Given the description of an element on the screen output the (x, y) to click on. 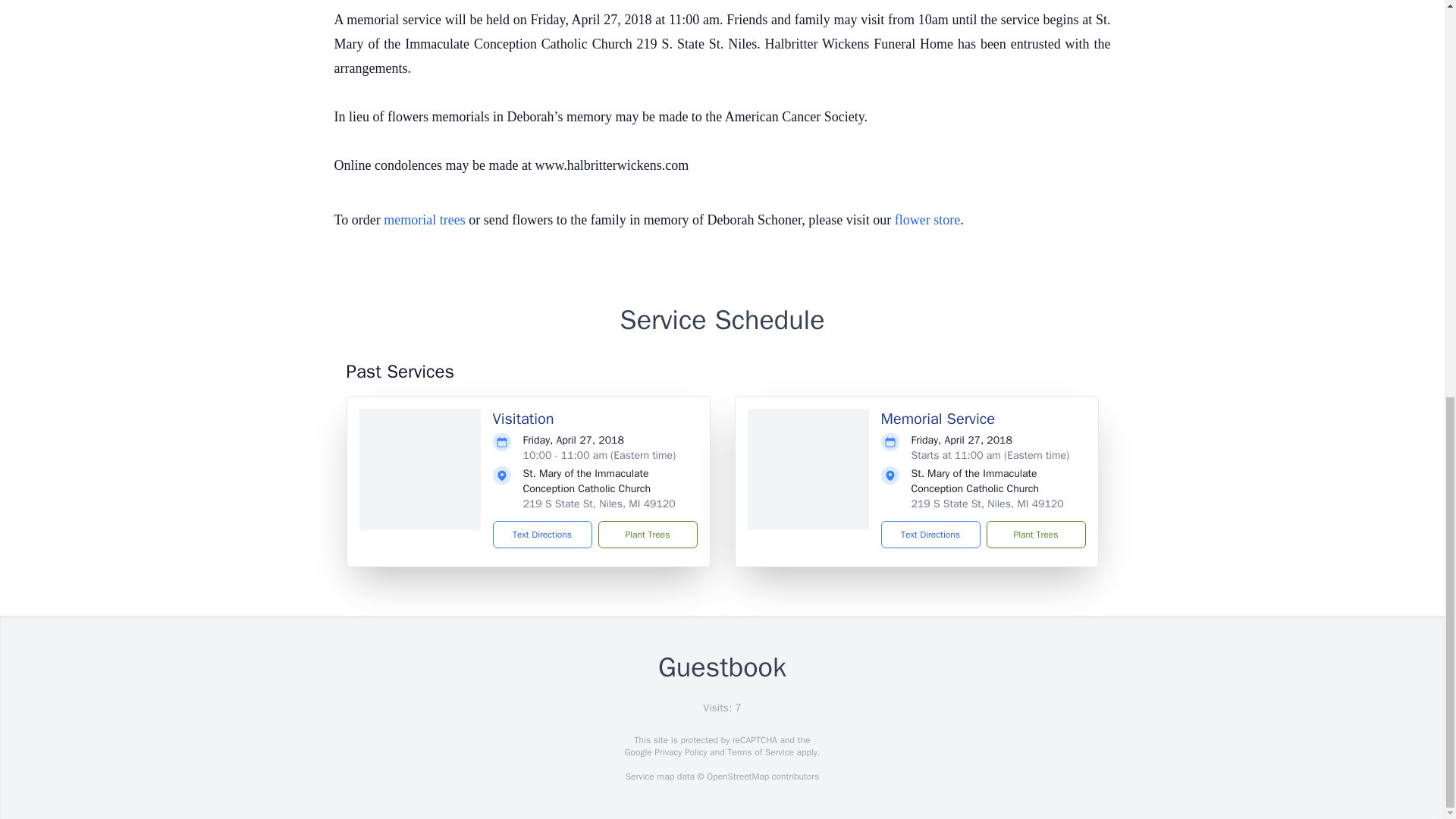
OpenStreetMap (737, 776)
Text Directions (929, 533)
Plant Trees (646, 533)
Terms of Service (759, 752)
Privacy Policy (679, 752)
flower store (927, 219)
219 S State St, Niles, MI 49120 (598, 503)
memorial trees (424, 219)
Text Directions (542, 533)
219 S State St, Niles, MI 49120 (987, 503)
